Given the description of an element on the screen output the (x, y) to click on. 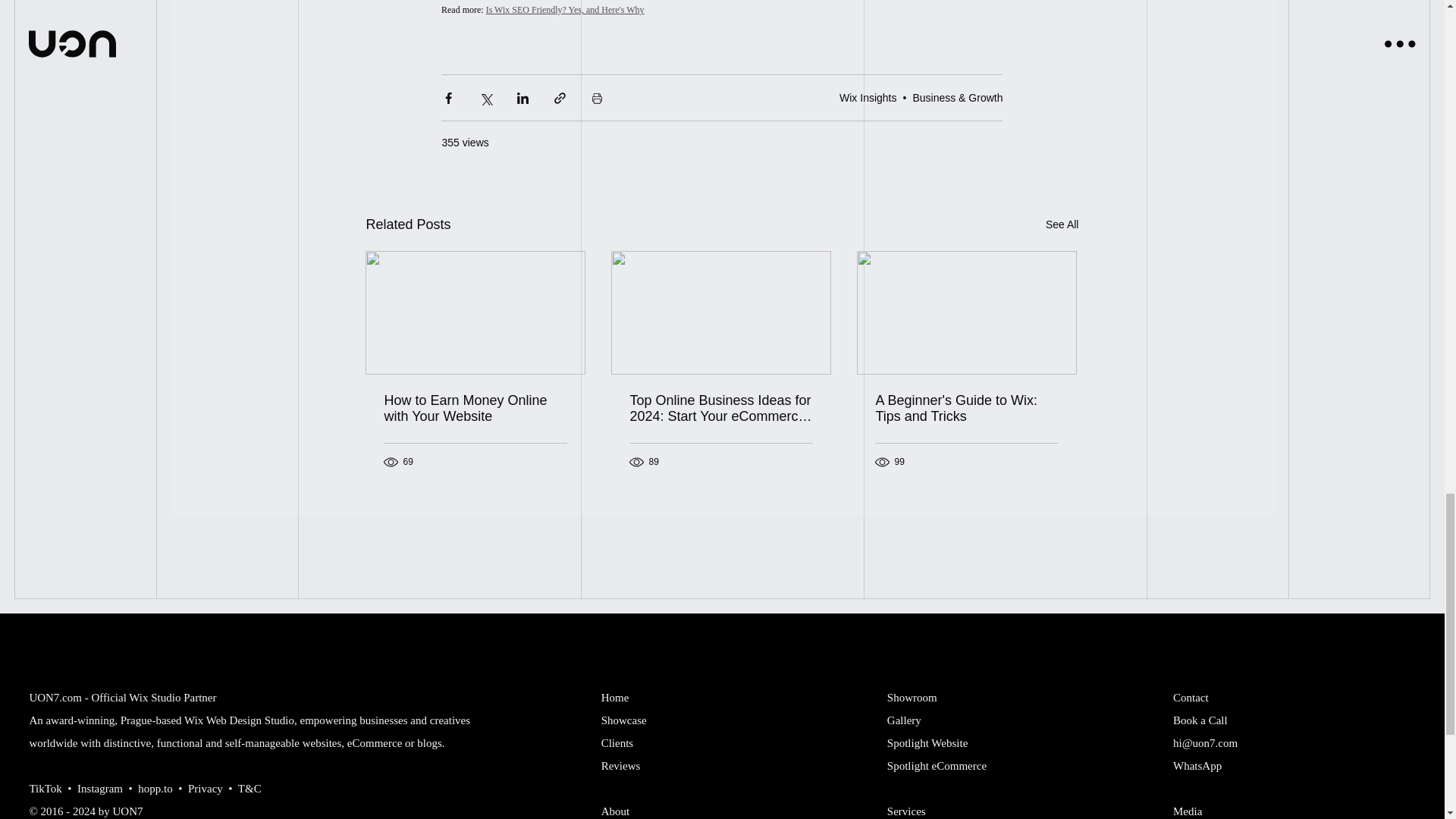
WhatsApp (1197, 766)
A Beginner's Guide to Wix: Tips and Tricks (966, 409)
Showroom (911, 697)
Contact (1190, 697)
How to Earn Money Online with Your Website (475, 409)
Book a Call (1200, 720)
See All (1061, 224)
Is Wix SEO Friendly? Yes, and Here's Why (565, 8)
Wix Insights (868, 97)
Spotlight Website (927, 743)
